Given the description of an element on the screen output the (x, y) to click on. 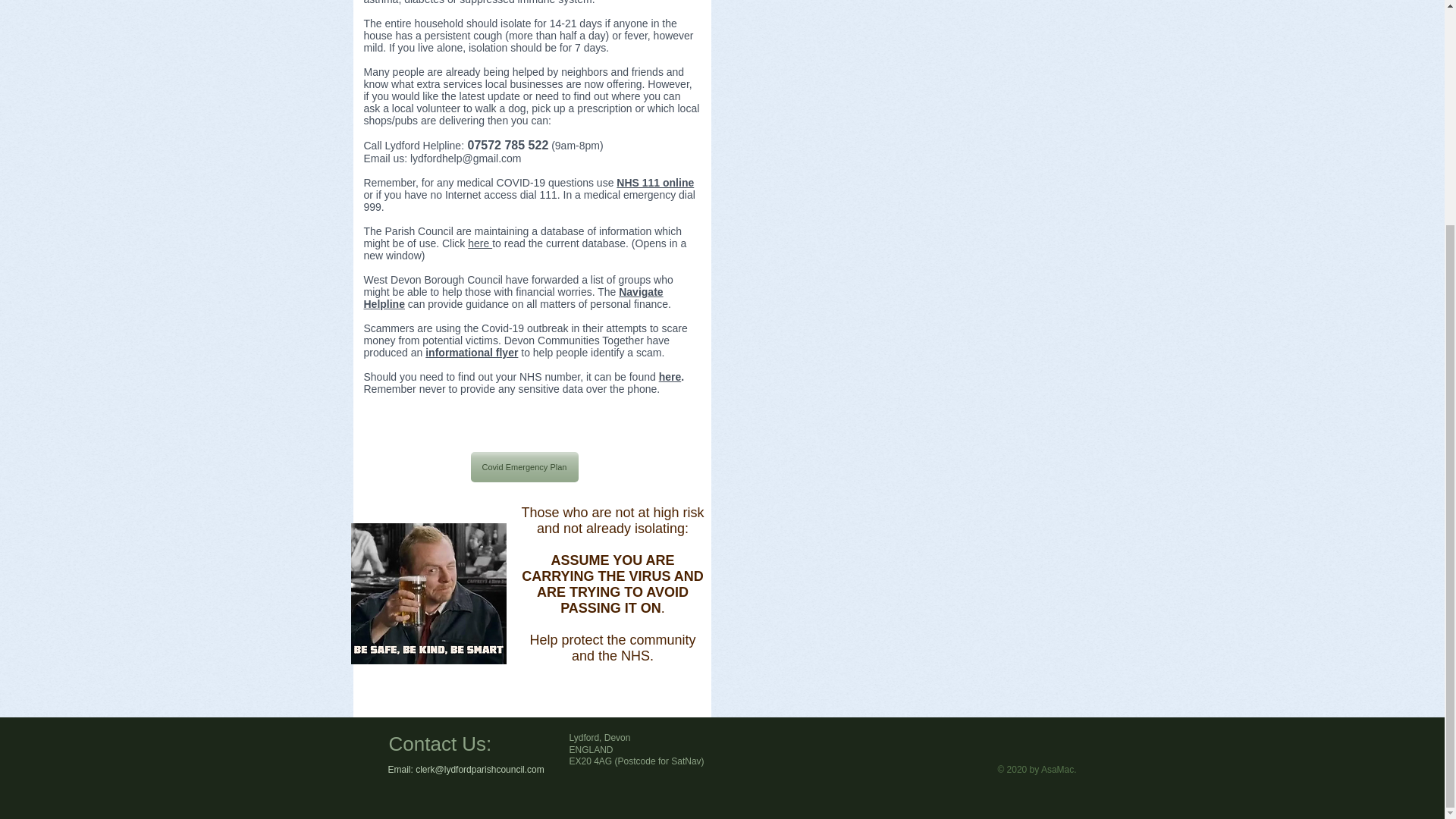
Navigate Helpline (513, 297)
NHS 111 online (654, 182)
here (479, 243)
list of groups (620, 279)
Covid Emergency Plan (524, 467)
here (670, 377)
informational flyer (471, 352)
